Given the description of an element on the screen output the (x, y) to click on. 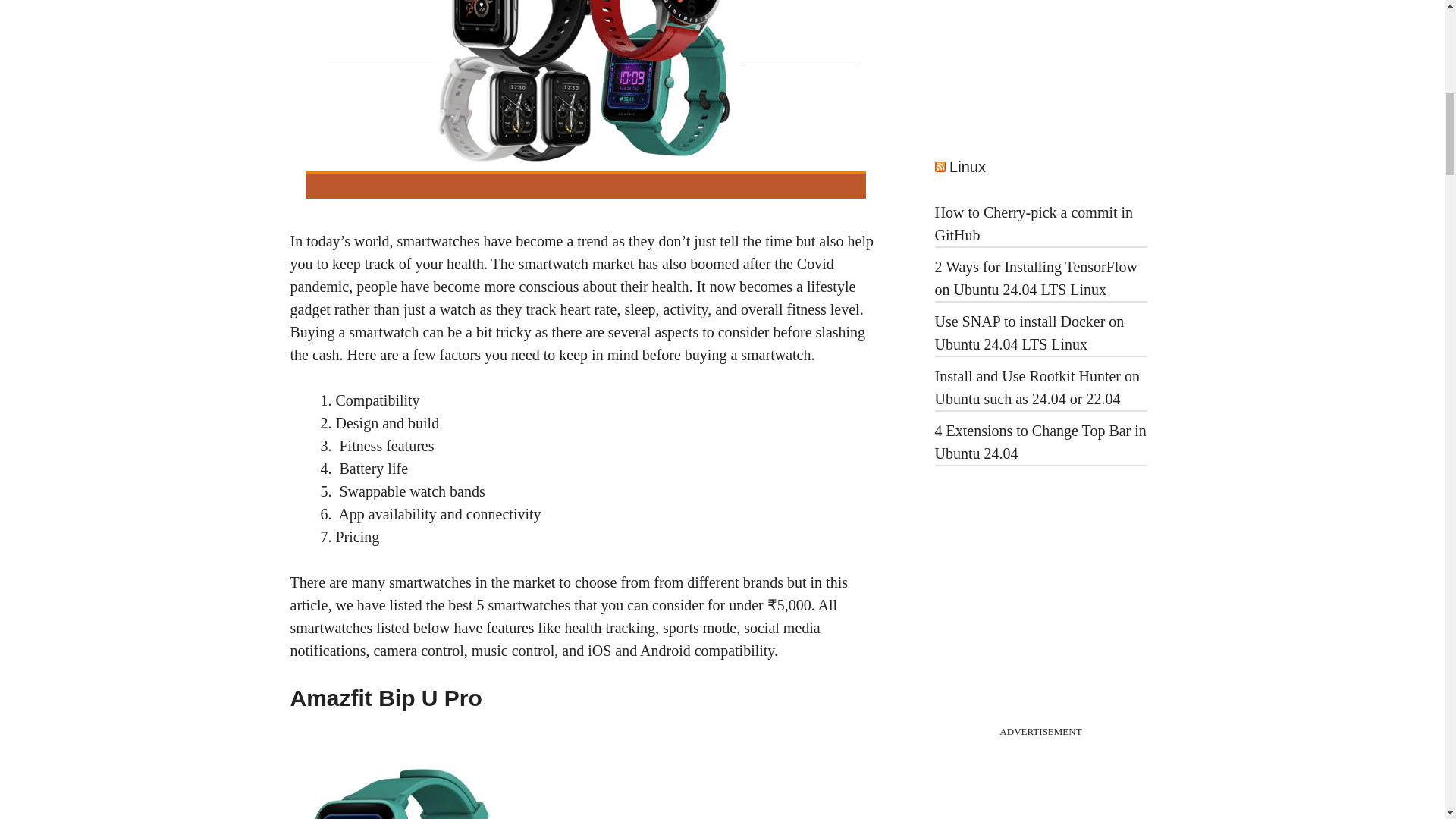
Amazfit (402, 788)
